Given the description of an element on the screen output the (x, y) to click on. 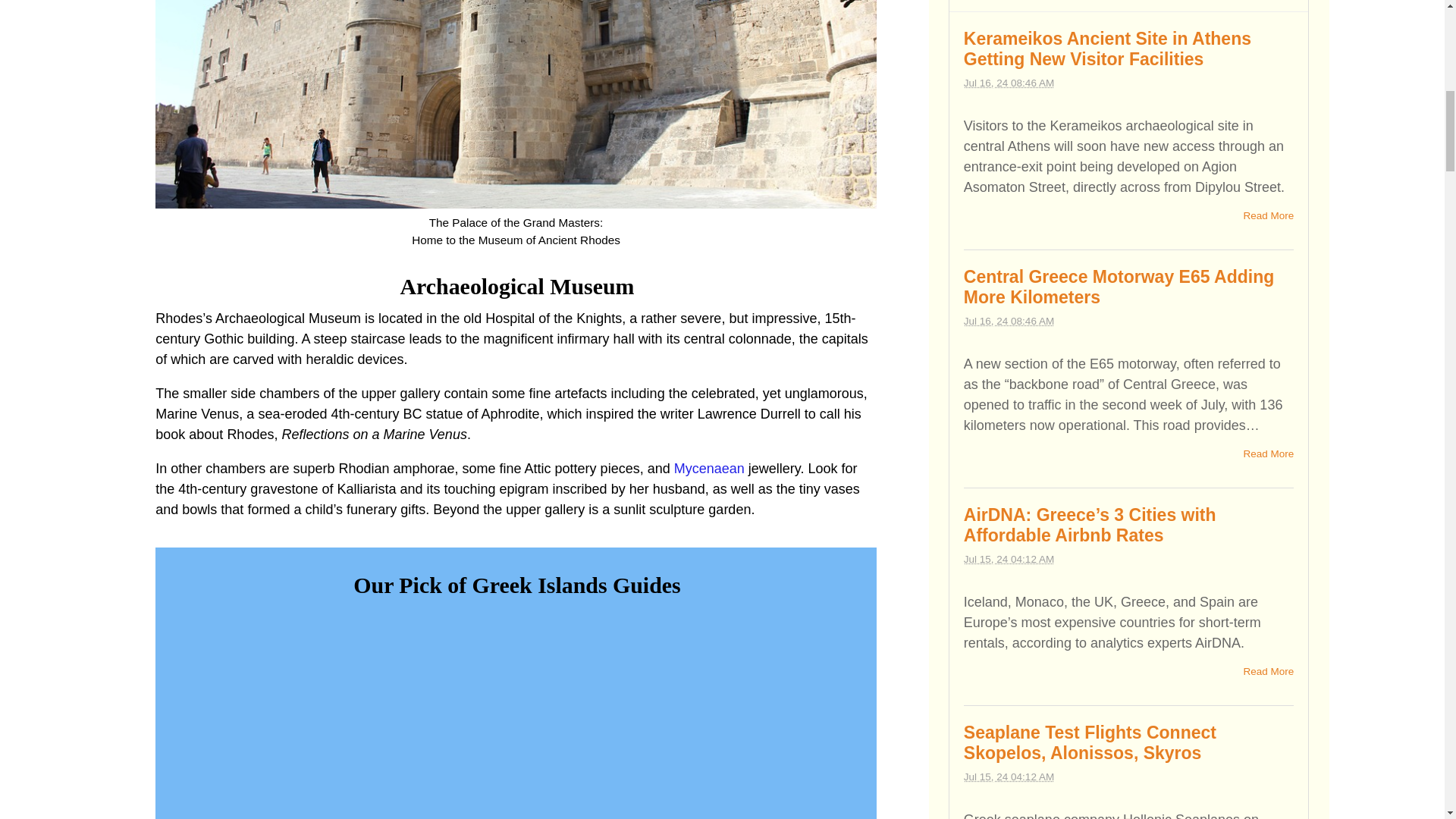
2024-07-16T08:46:42-0400 (1008, 320)
Rough-Guide-Greek-Islands-2022.png (515, 715)
2024-07-15T04:12:14-0400 (1008, 559)
2024-07-16T08:46:42-0400 (1008, 82)
2024-07-15T04:12:14-0400 (1008, 776)
